Given the description of an element on the screen output the (x, y) to click on. 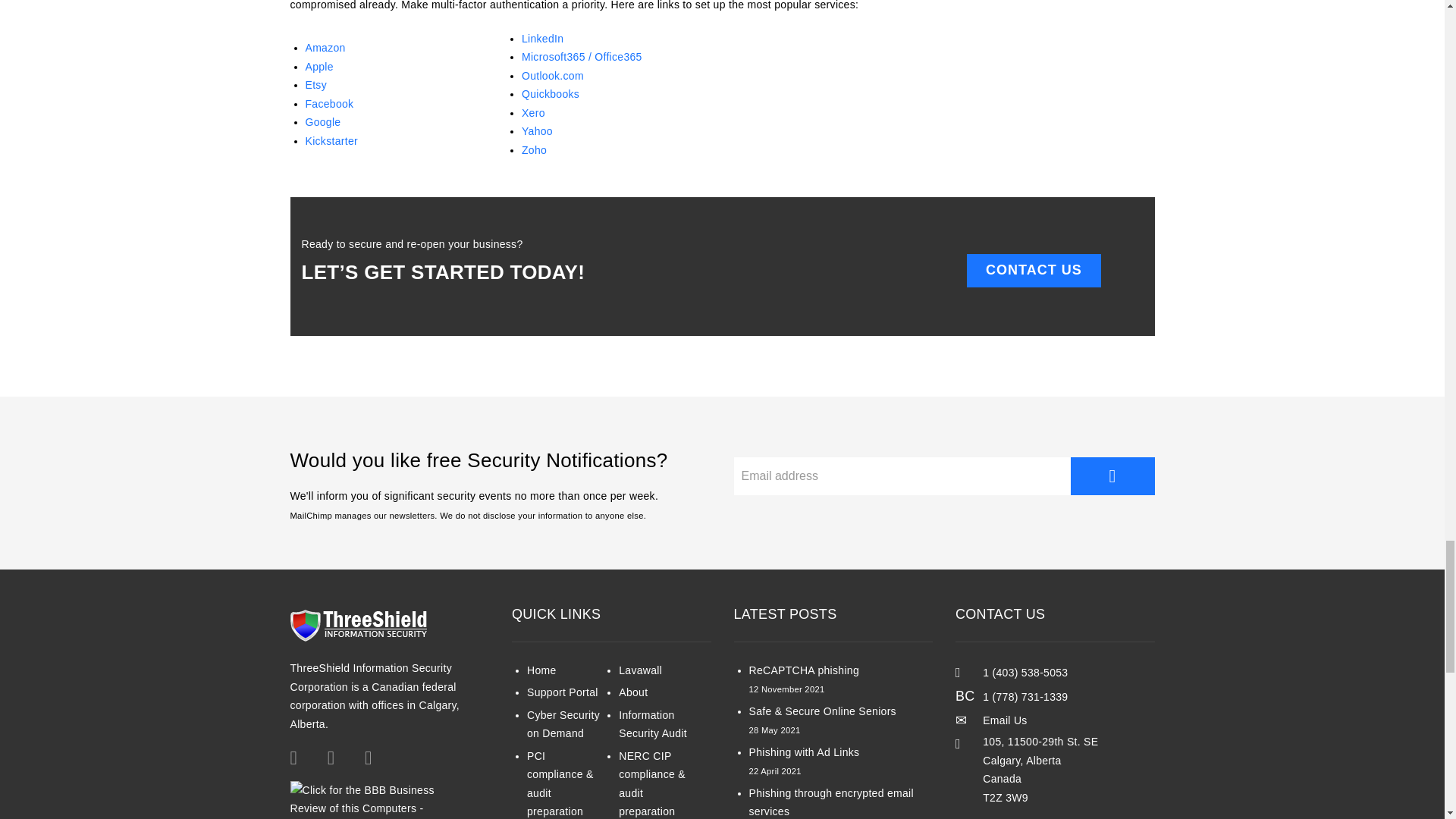
Apple (318, 66)
Facebook (328, 103)
Amazon (324, 47)
Etsy (315, 84)
